Given the description of an element on the screen output the (x, y) to click on. 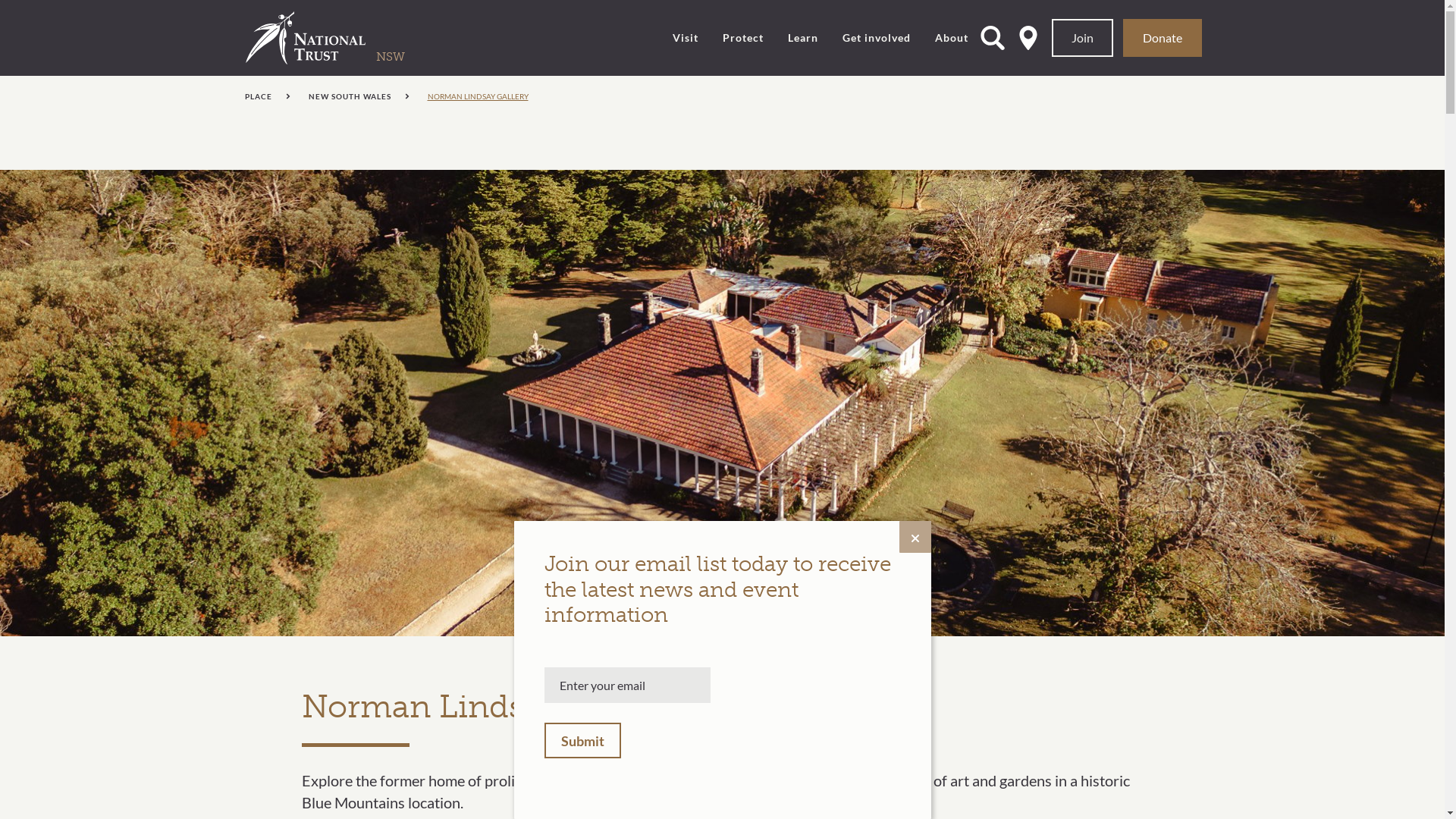
About Element type: text (951, 37)
Norman Lindsay Gallery Visit Element type: hover (722, 402)
NEW SOUTH WALES Element type: text (357, 95)
National Trust Element type: text (336, 37)
Donate Element type: text (1162, 37)
Select State Element type: text (1028, 37)
Learn Element type: text (802, 37)
Protect Element type: text (742, 37)
Submit Element type: text (582, 740)
PLACE Element type: text (266, 95)
Open Search Form Element type: text (992, 37)
Join Element type: text (1082, 37)
Visit Element type: text (685, 37)
Get involved Element type: text (876, 37)
